Given the description of an element on the screen output the (x, y) to click on. 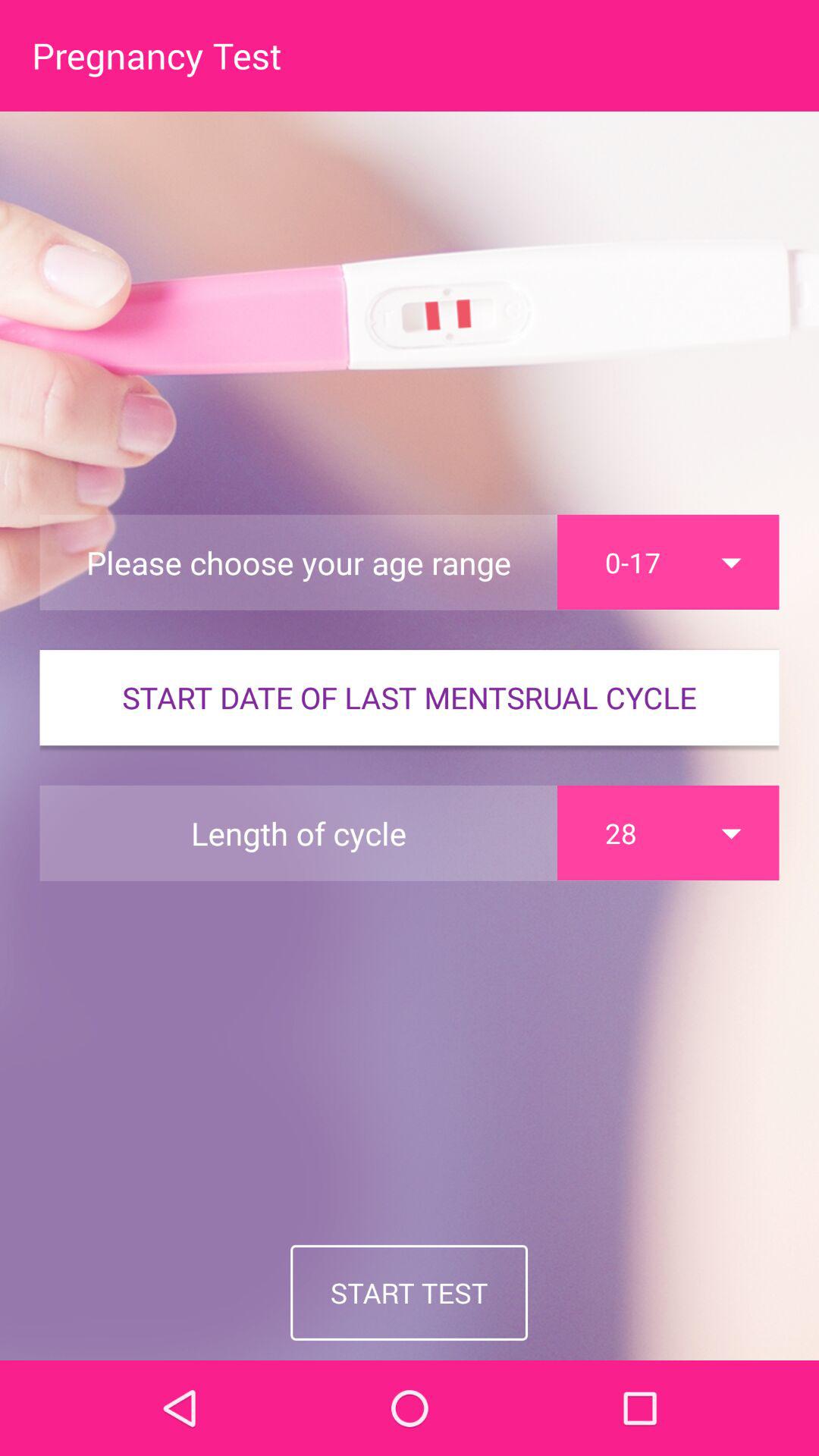
jump until the 0-17 (668, 562)
